Given the description of an element on the screen output the (x, y) to click on. 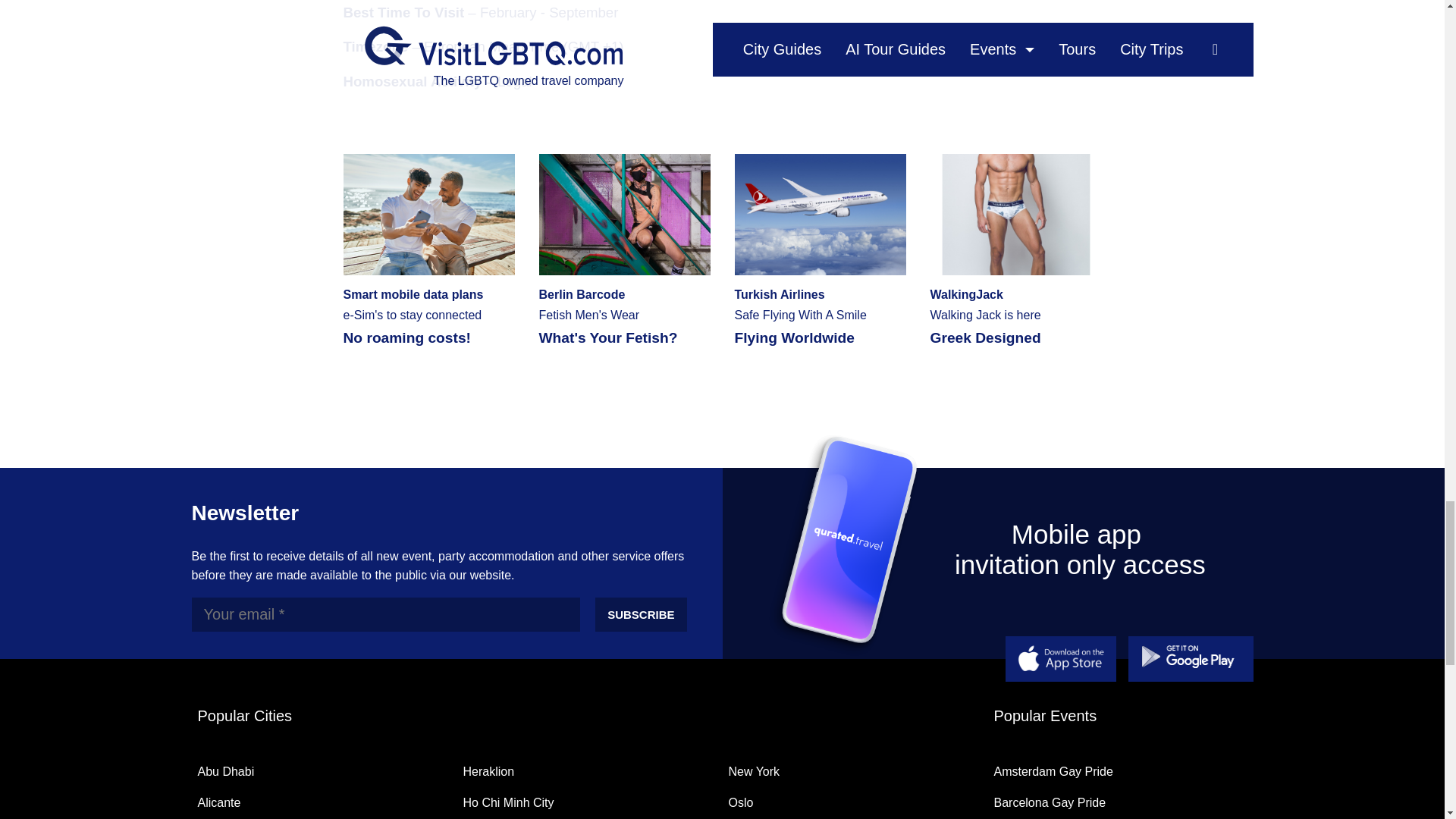
Alicante (218, 802)
Abu Dhabi (819, 249)
SUBSCRIBE (1015, 249)
